Given the description of an element on the screen output the (x, y) to click on. 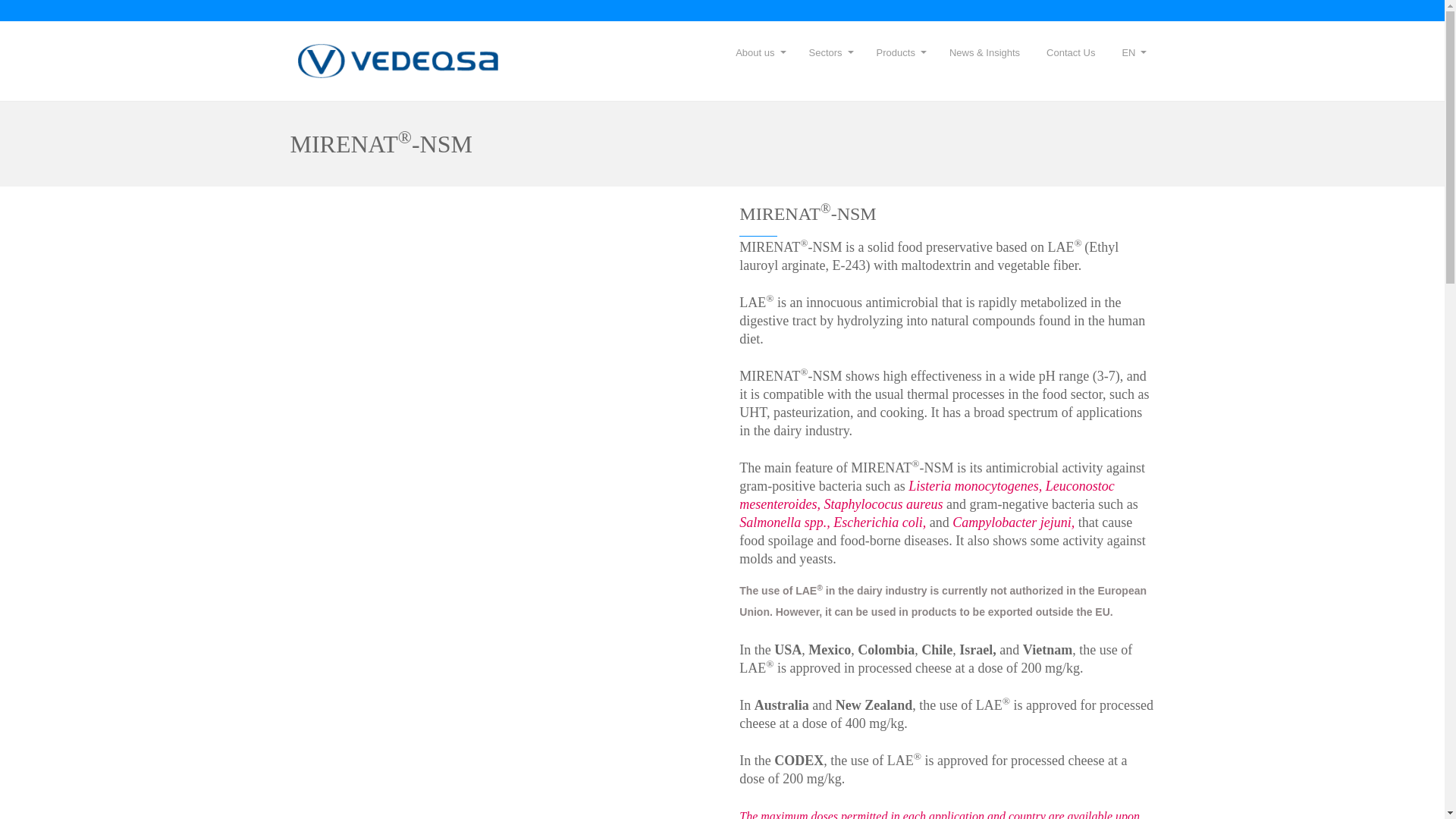
About us (758, 52)
Sectors (829, 52)
Products (899, 52)
EN (1131, 52)
EN (1131, 52)
Contact Us (1070, 52)
